Given the description of an element on the screen output the (x, y) to click on. 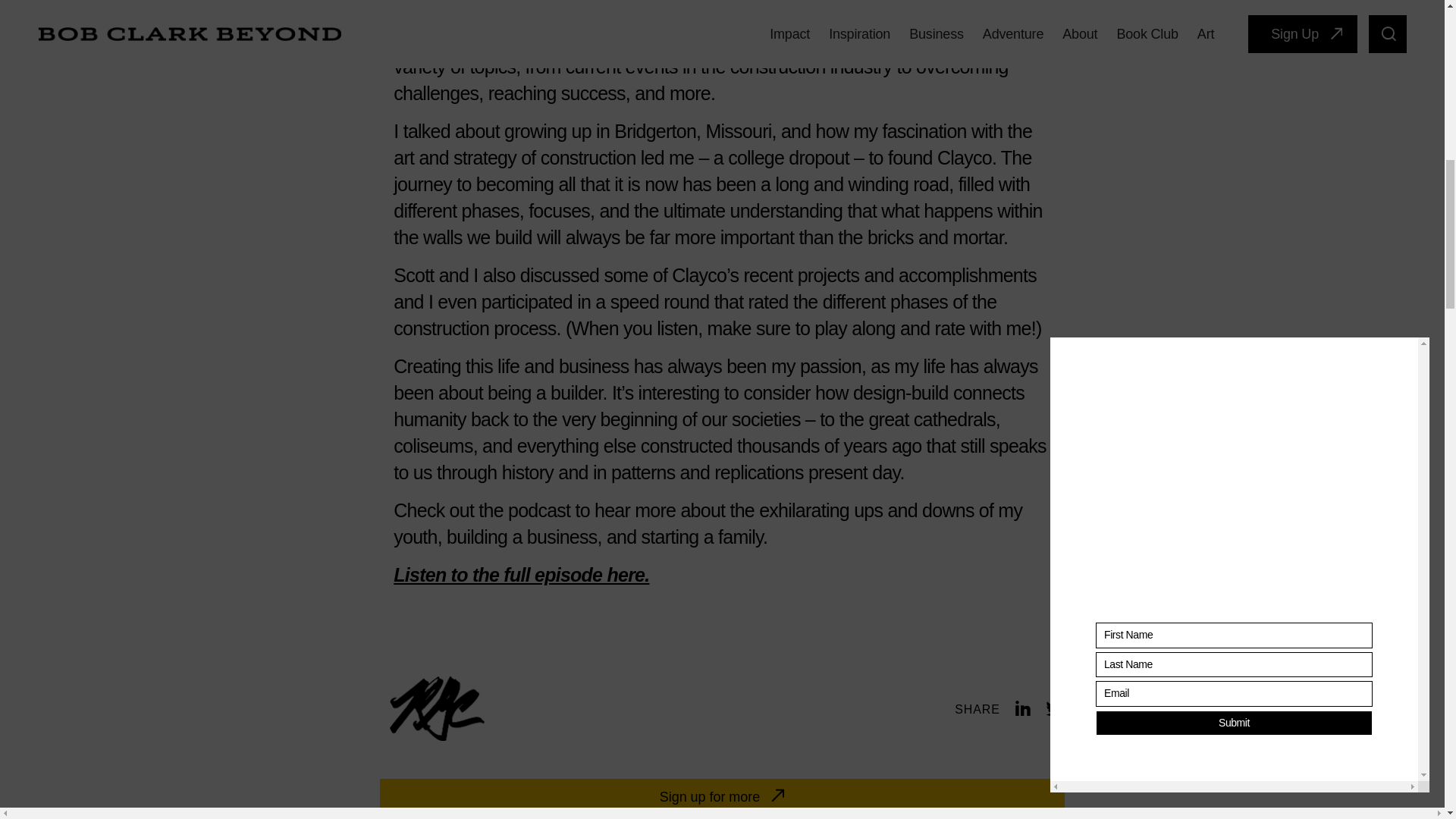
Sign up for more (722, 796)
ACE Consulting Company, LLC (717, 12)
Listen to the full episode here. (521, 574)
